Given the description of an element on the screen output the (x, y) to click on. 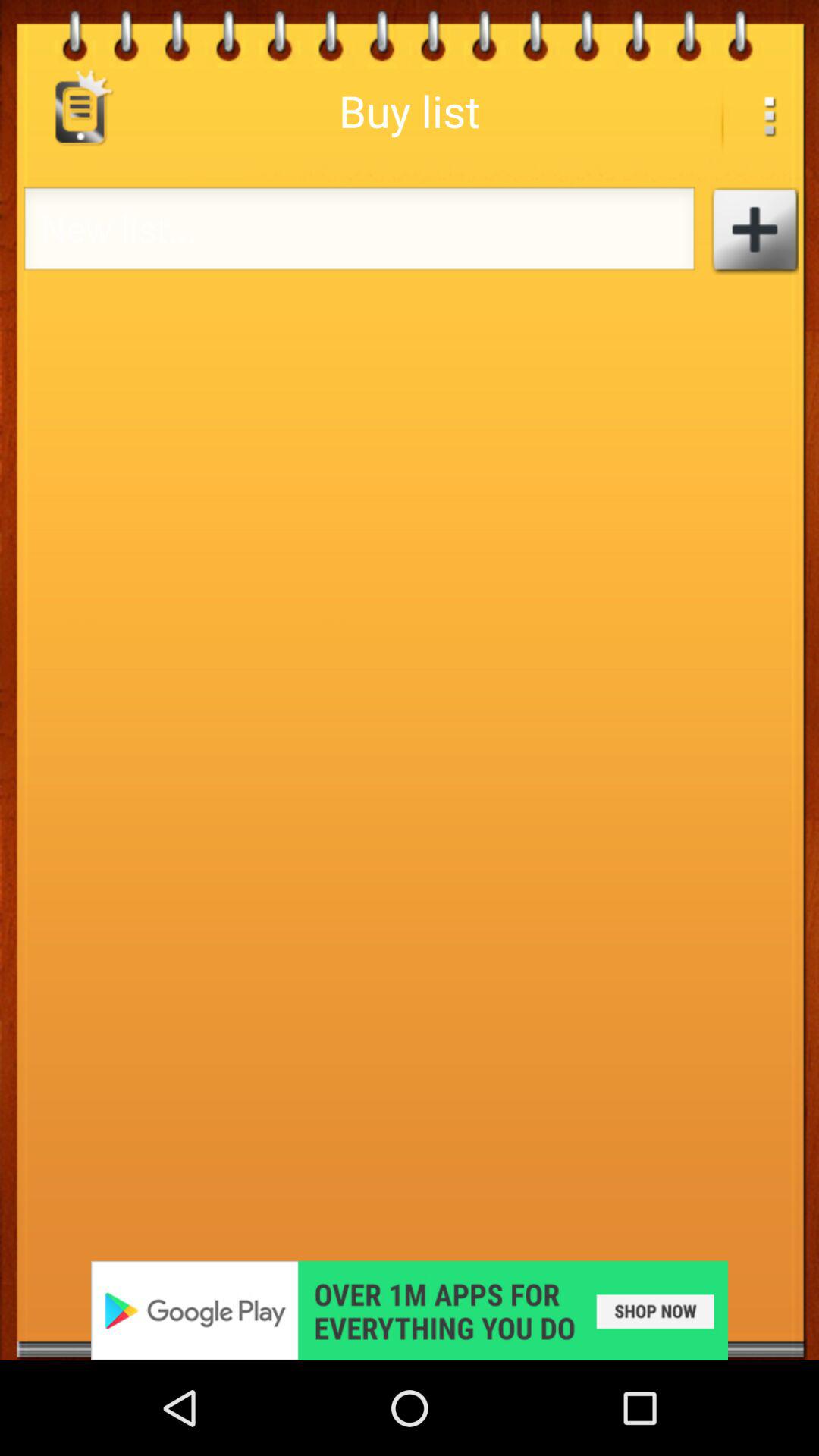
open advertisement (409, 1310)
